Given the description of an element on the screen output the (x, y) to click on. 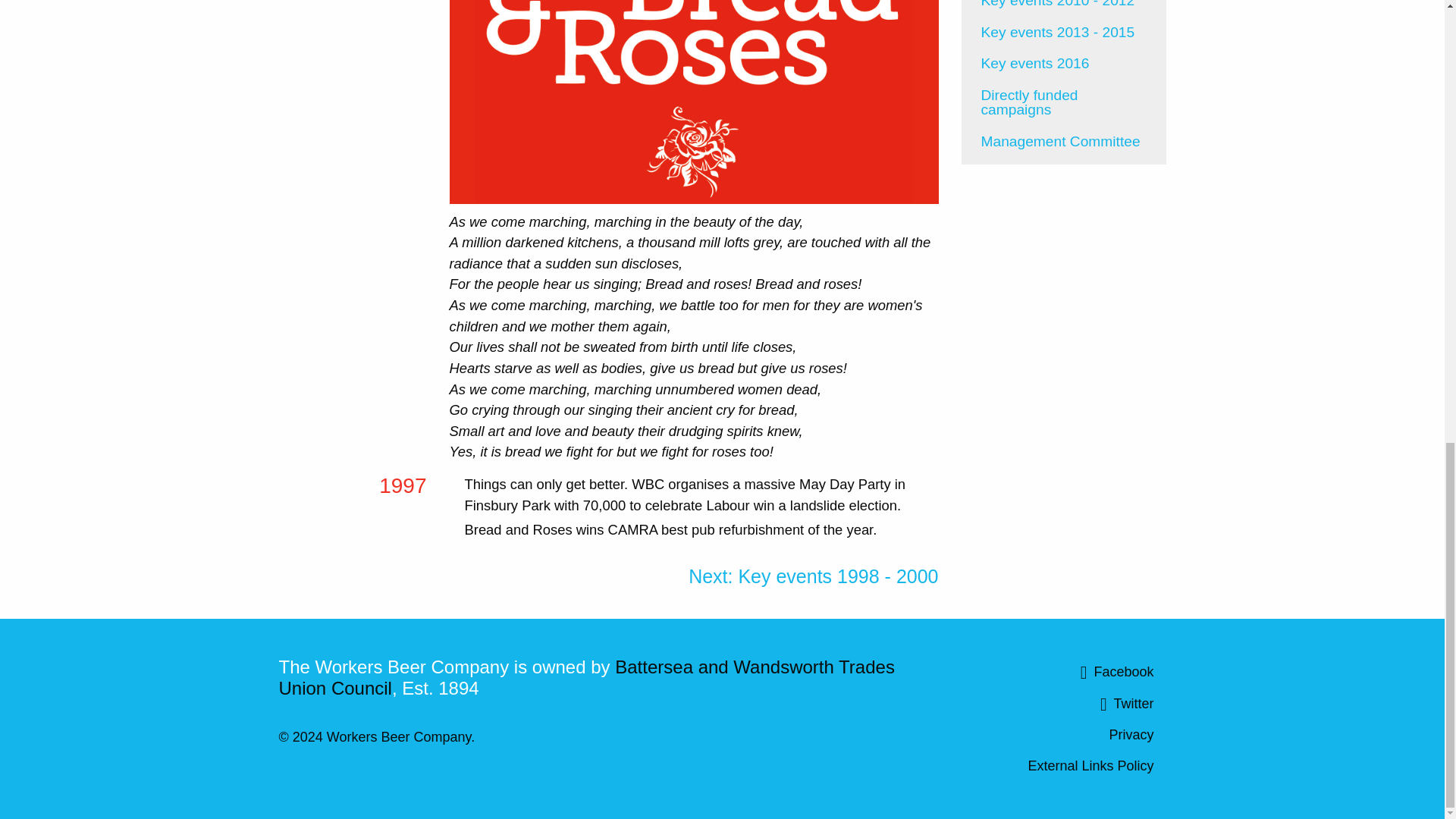
Key events 2016 (1063, 63)
Twitter (1063, 703)
Facebook (1063, 672)
Key events 2010 - 2012 (1063, 8)
Key events 1998 - 2000 (812, 576)
Next: Key events 1998 - 2000 (812, 576)
External Links Policy (1063, 765)
Management Committee (1063, 142)
Privacy (1063, 734)
Battersea and Wandsworth Trades Union Council (587, 677)
Directly funded campaigns (1063, 102)
Key events 2013 - 2015 (1063, 32)
